Given the description of an element on the screen output the (x, y) to click on. 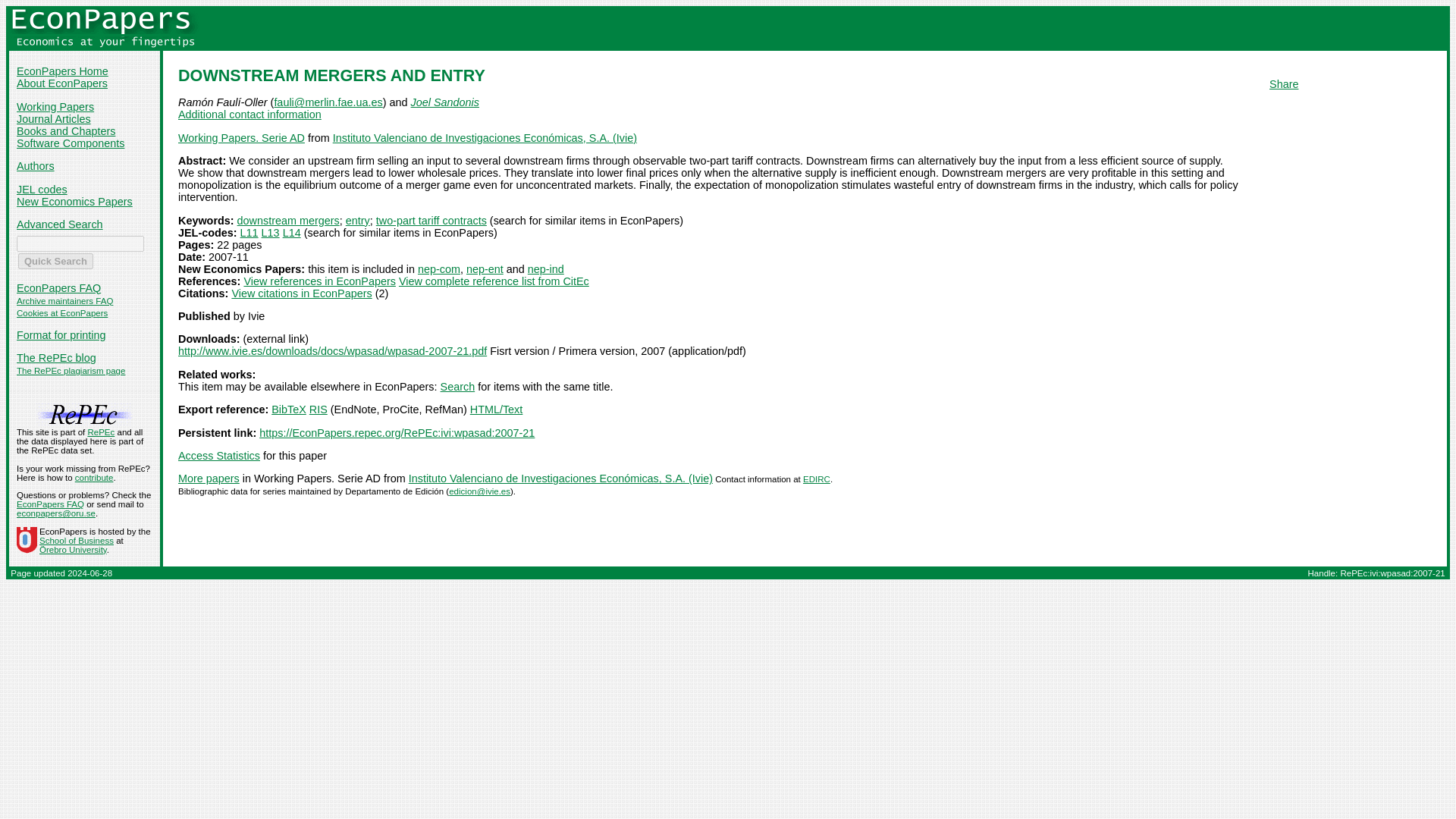
Working Papers. Serie AD (240, 137)
The RePEc blog (56, 357)
EconPapers FAQ (58, 287)
L14 (291, 232)
Archive maintainers FAQ (64, 300)
nep-ent (484, 268)
Working Papers (55, 106)
Quick Search (55, 261)
two-part tariff contracts (430, 220)
EconPapers Home (61, 70)
New Economics Papers (74, 201)
More papers (208, 478)
entry (357, 220)
Advanced Search (59, 224)
Books and Chapters (65, 131)
